Given the description of an element on the screen output the (x, y) to click on. 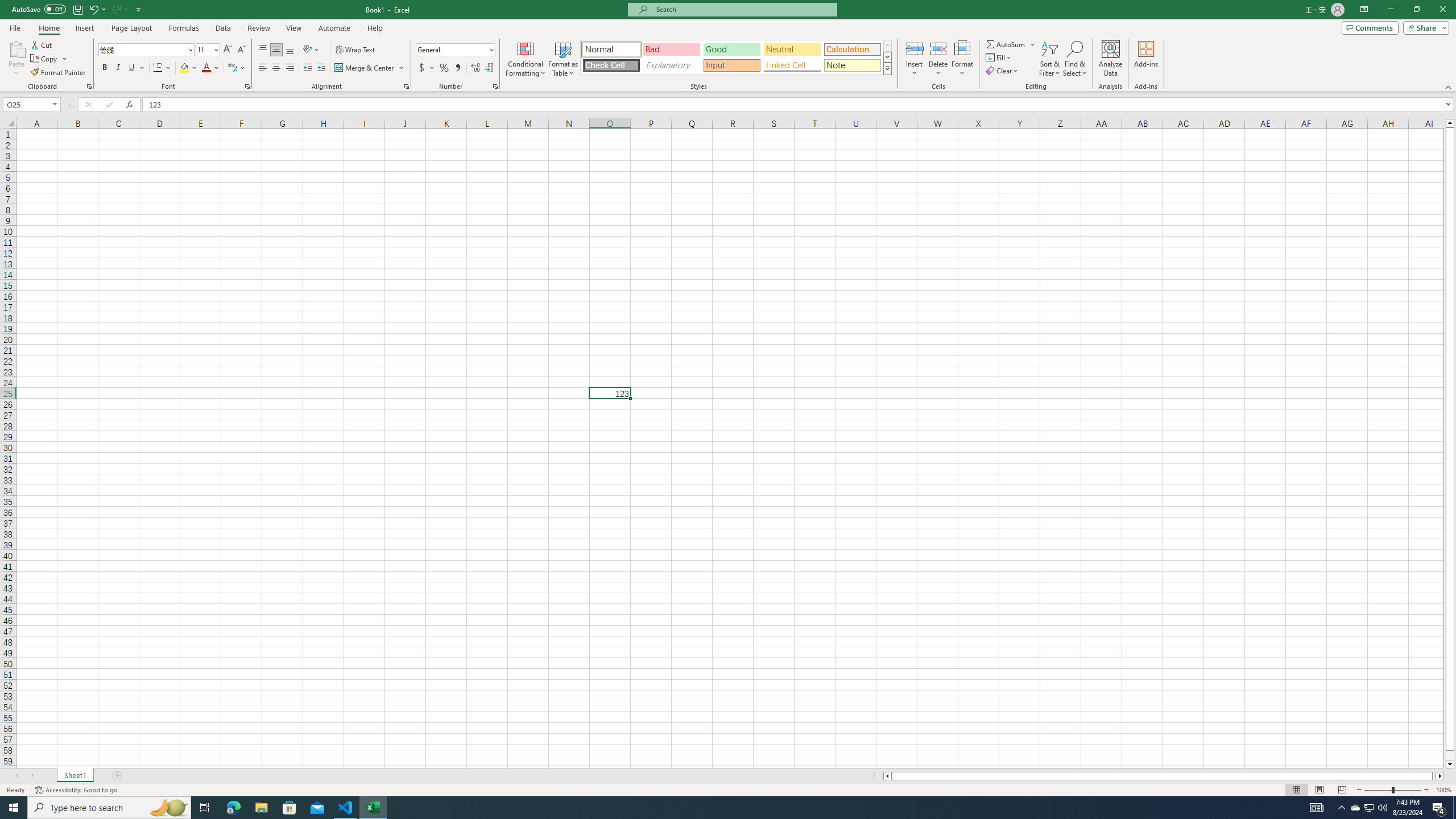
Increase Indent (320, 67)
Page Break Preview (1342, 790)
Page right (1433, 775)
Zoom Out (1377, 790)
Class: MsoCommandBar (728, 45)
Linked Cell (791, 65)
Cell Styles (887, 68)
Font Size (207, 49)
Align Right (290, 67)
Office Clipboard... (88, 85)
Comments (1369, 27)
Save (77, 9)
Number Format (451, 49)
Middle Align (276, 49)
Scroll Right (32, 775)
